Given the description of an element on the screen output the (x, y) to click on. 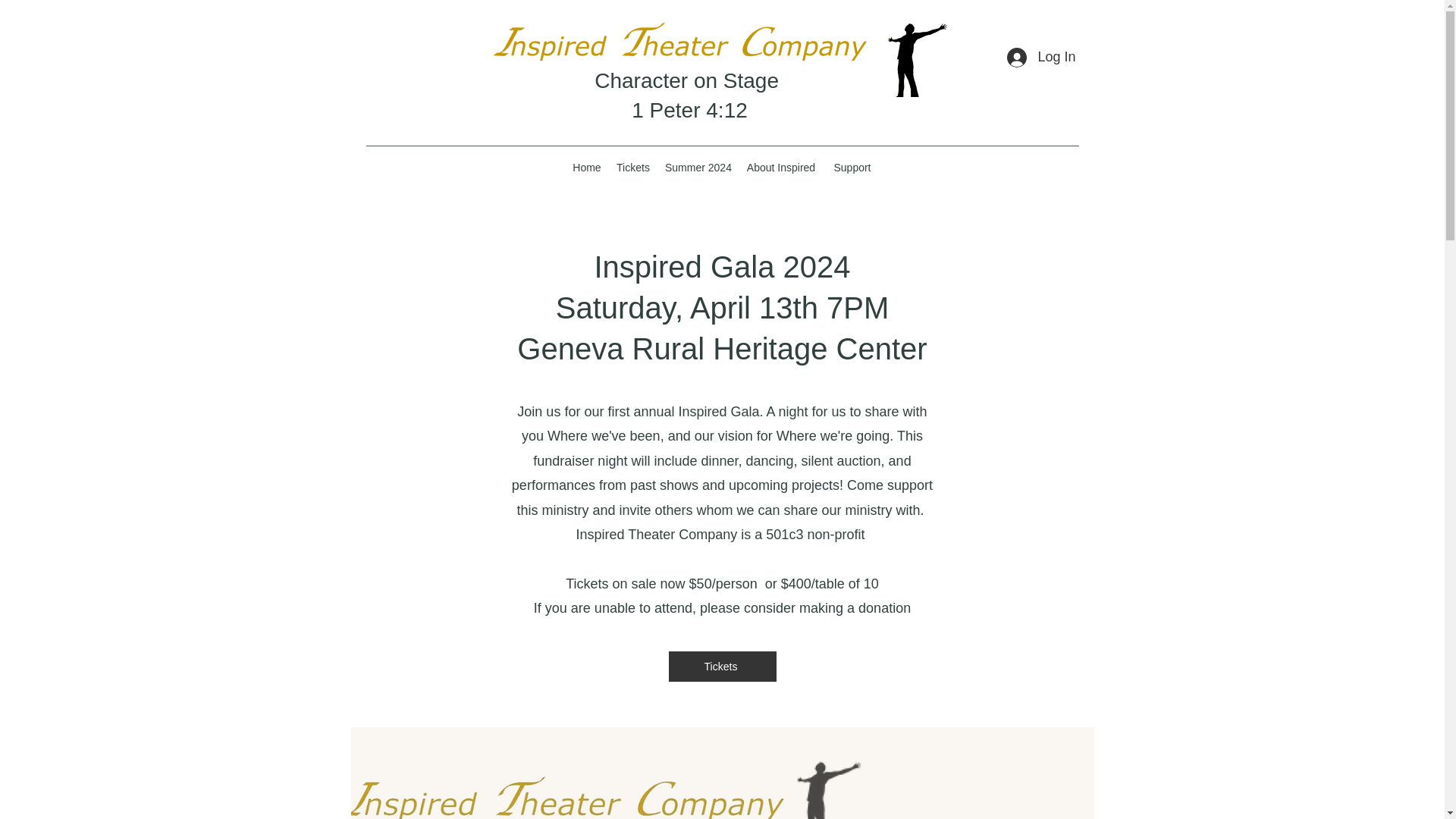
Home (586, 167)
Log In (1040, 57)
Summer 2024 (697, 167)
Tickets (633, 167)
Tickets (722, 666)
